Given the description of an element on the screen output the (x, y) to click on. 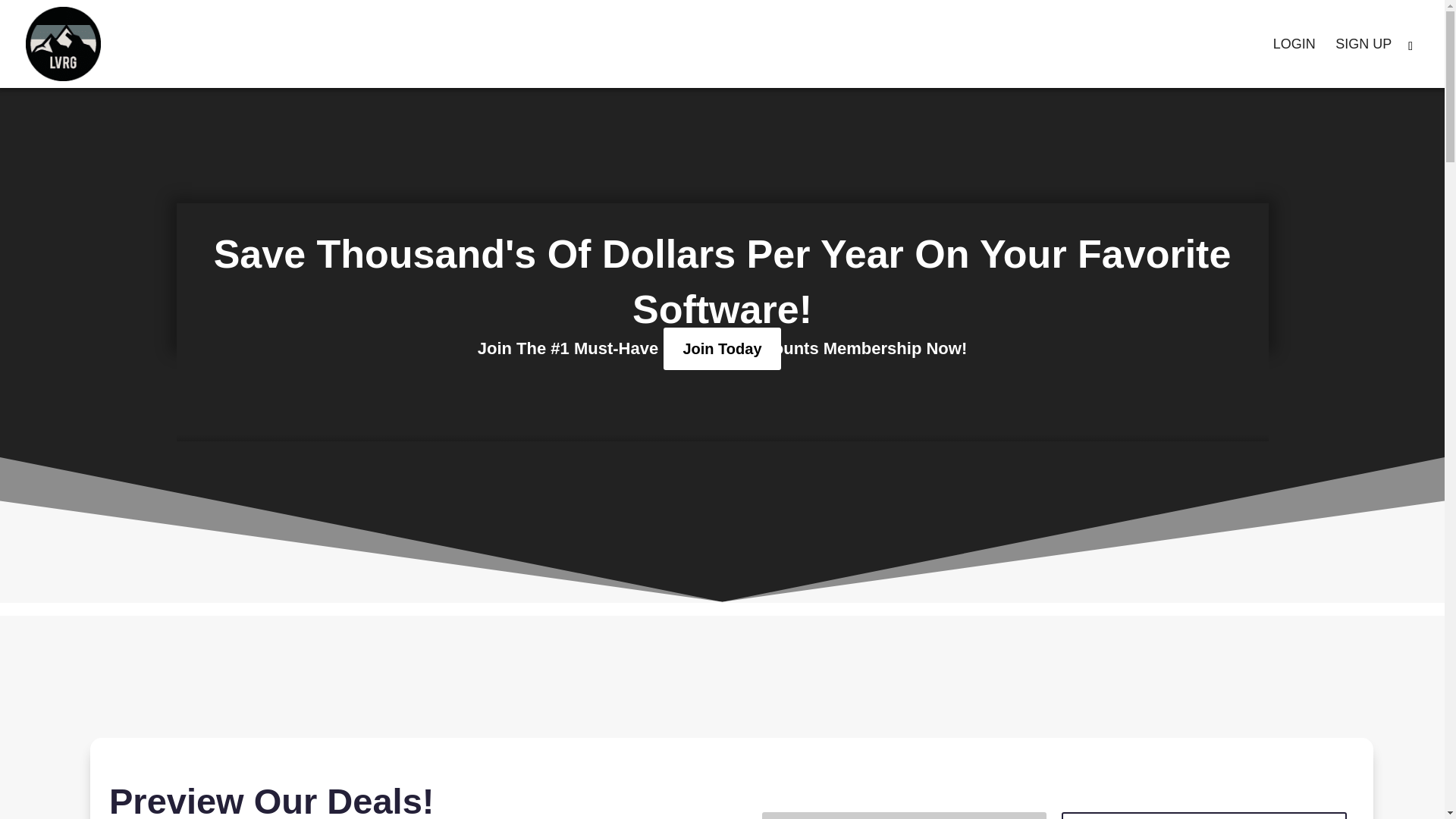
Subscribe (1203, 815)
SIGN UP (1363, 62)
Join Today (721, 348)
